Given the description of an element on the screen output the (x, y) to click on. 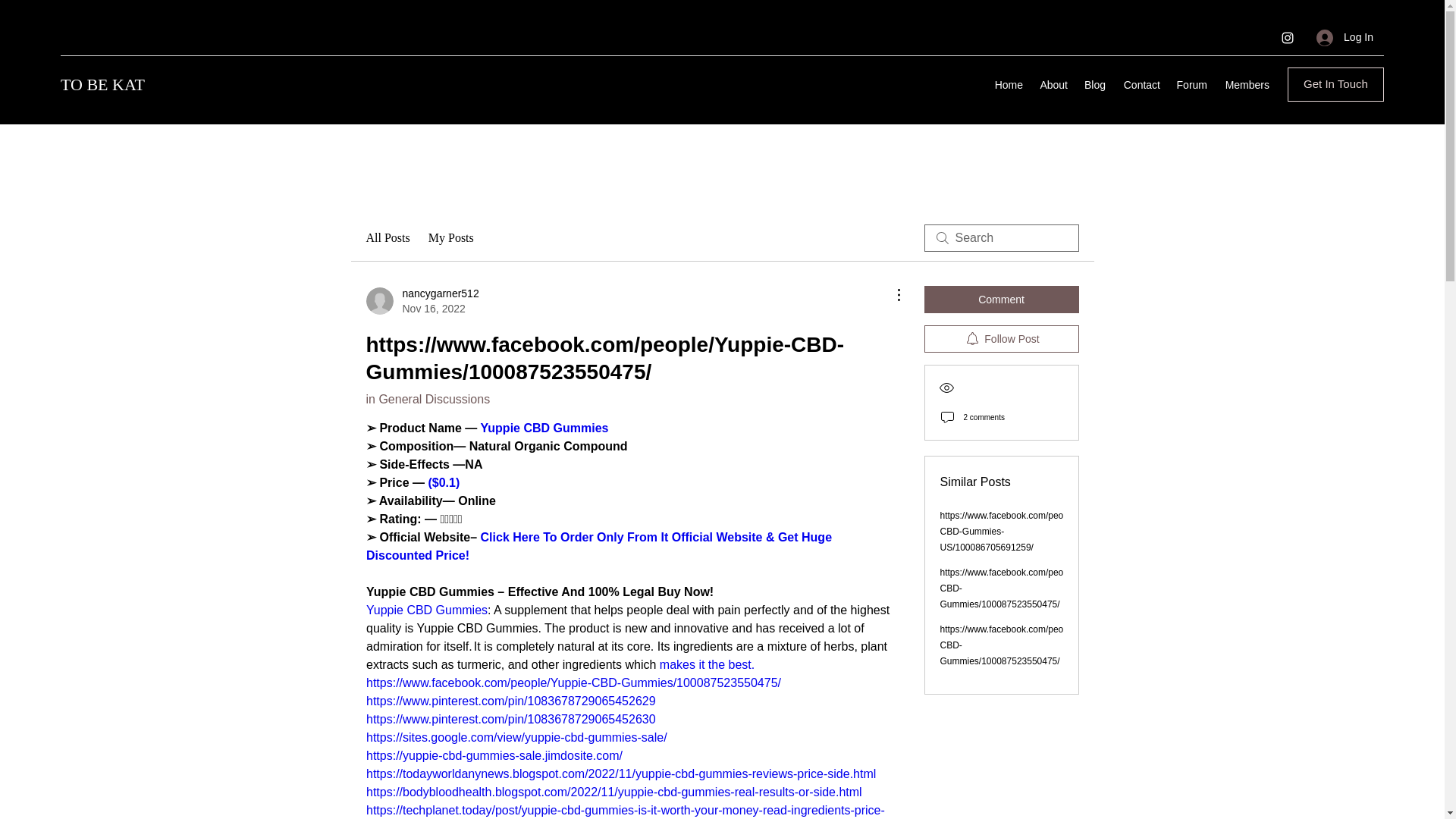
Get In Touch (1335, 84)
Log In (1345, 37)
Home (1007, 84)
Blog (1094, 84)
My Posts (451, 238)
in General Discussions (427, 399)
TO BE KAT (102, 84)
About (422, 300)
Yuppie CBD Gummies (1052, 84)
Members (425, 609)
makes it the best. (1245, 84)
Yuppie CBD Gummies (706, 664)
Contact (544, 427)
All Posts (1140, 84)
